Given the description of an element on the screen output the (x, y) to click on. 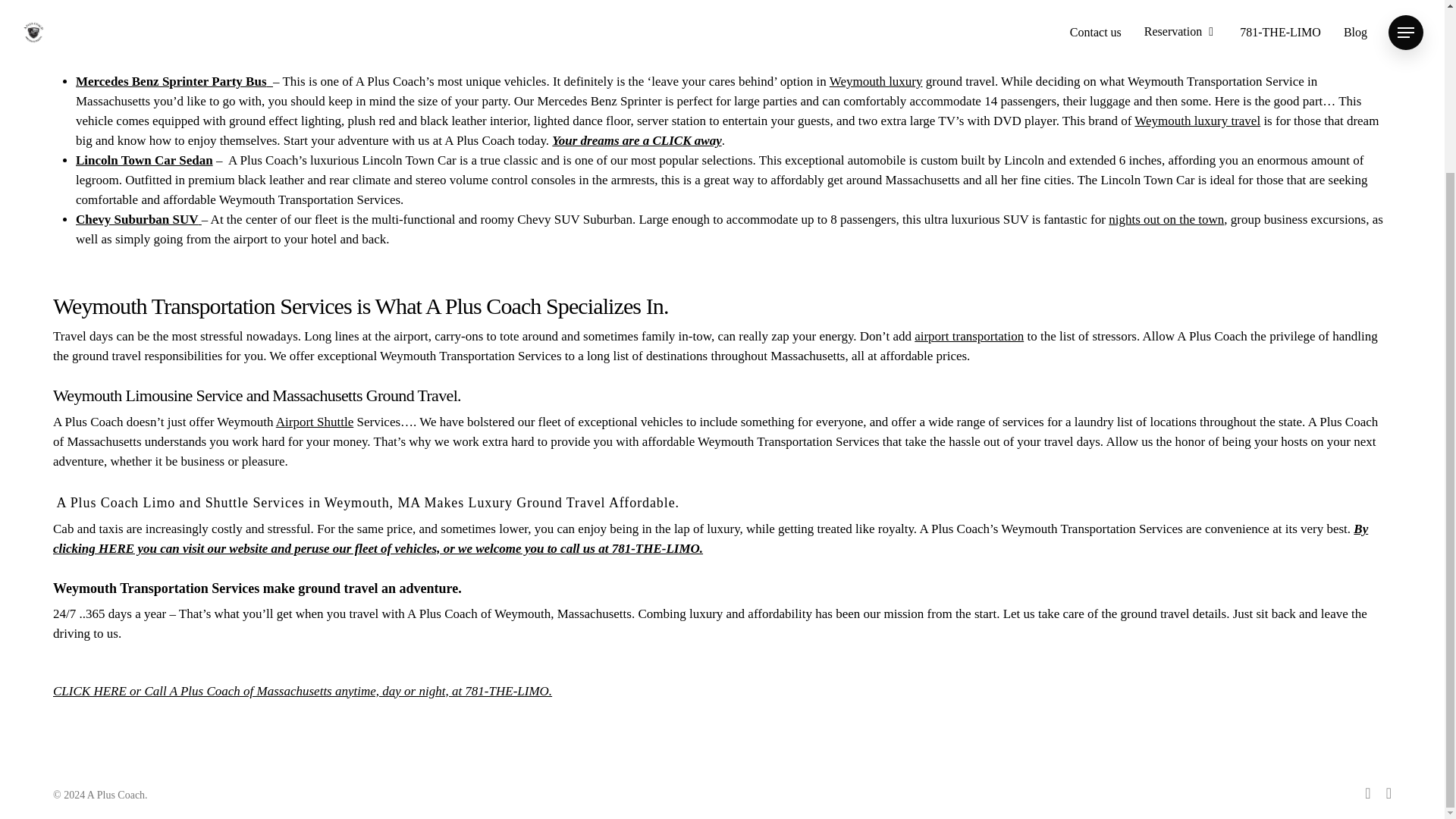
Weymouth luxury (876, 81)
Chevy Suburban SUV  (138, 219)
Mercedes Benz Sprinter Party Bus   (174, 81)
Weymouth luxury travel (1197, 120)
Lincoln Town Car Sedan (143, 160)
Your dreams are a CLICK away (635, 140)
airport transportation (968, 335)
nights out on the town (1166, 219)
